Given the description of an element on the screen output the (x, y) to click on. 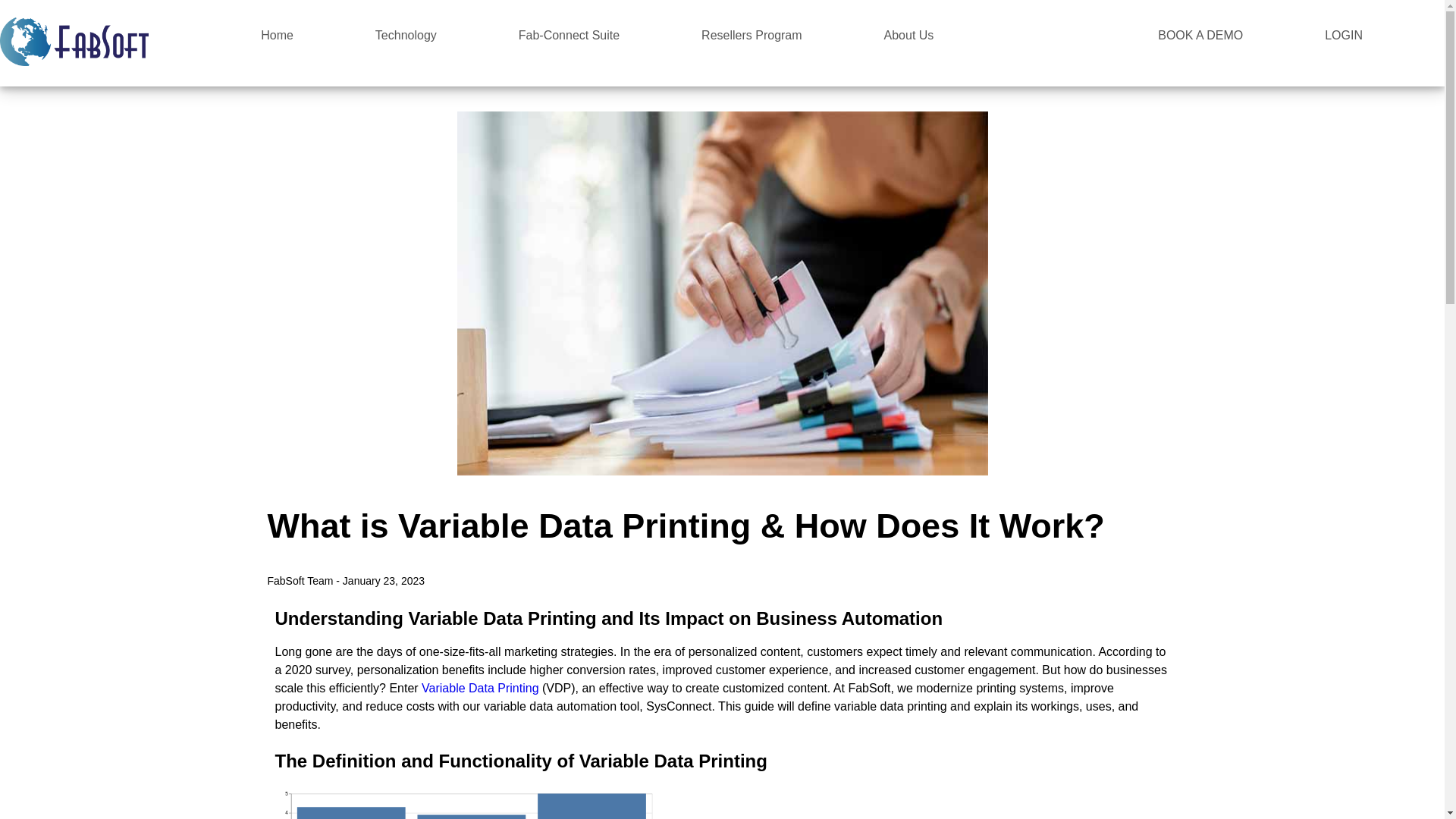
Home (277, 35)
LOGIN (1343, 35)
About Us (908, 35)
Resellers Program (751, 35)
Fab-Connect Suite (569, 35)
BOOK A DEMO (1200, 35)
